Given the description of an element on the screen output the (x, y) to click on. 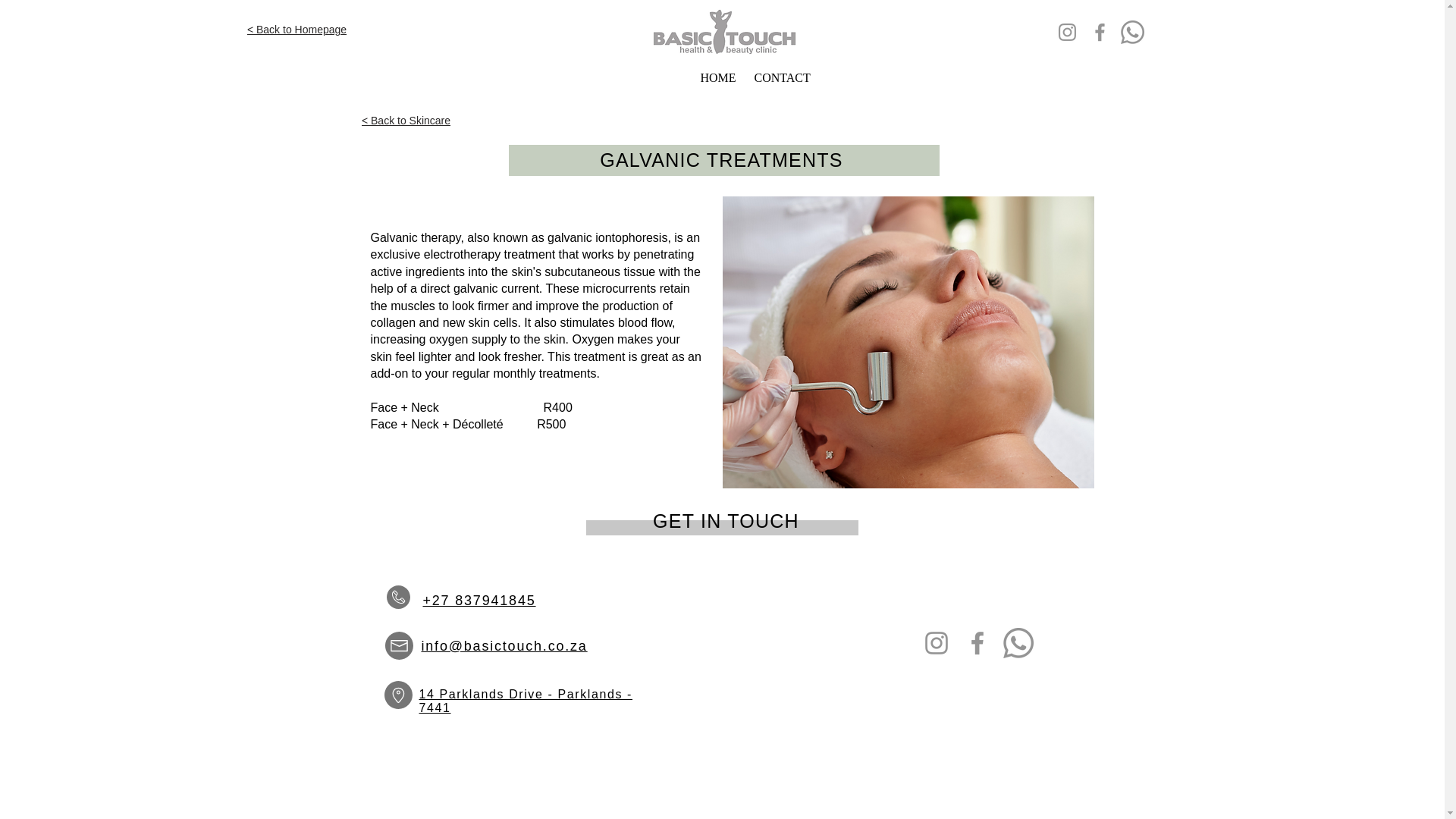
14 Parklands Drive - Parklands - 7441 (525, 700)
HOME (715, 77)
CONTACT (778, 77)
